Given the description of an element on the screen output the (x, y) to click on. 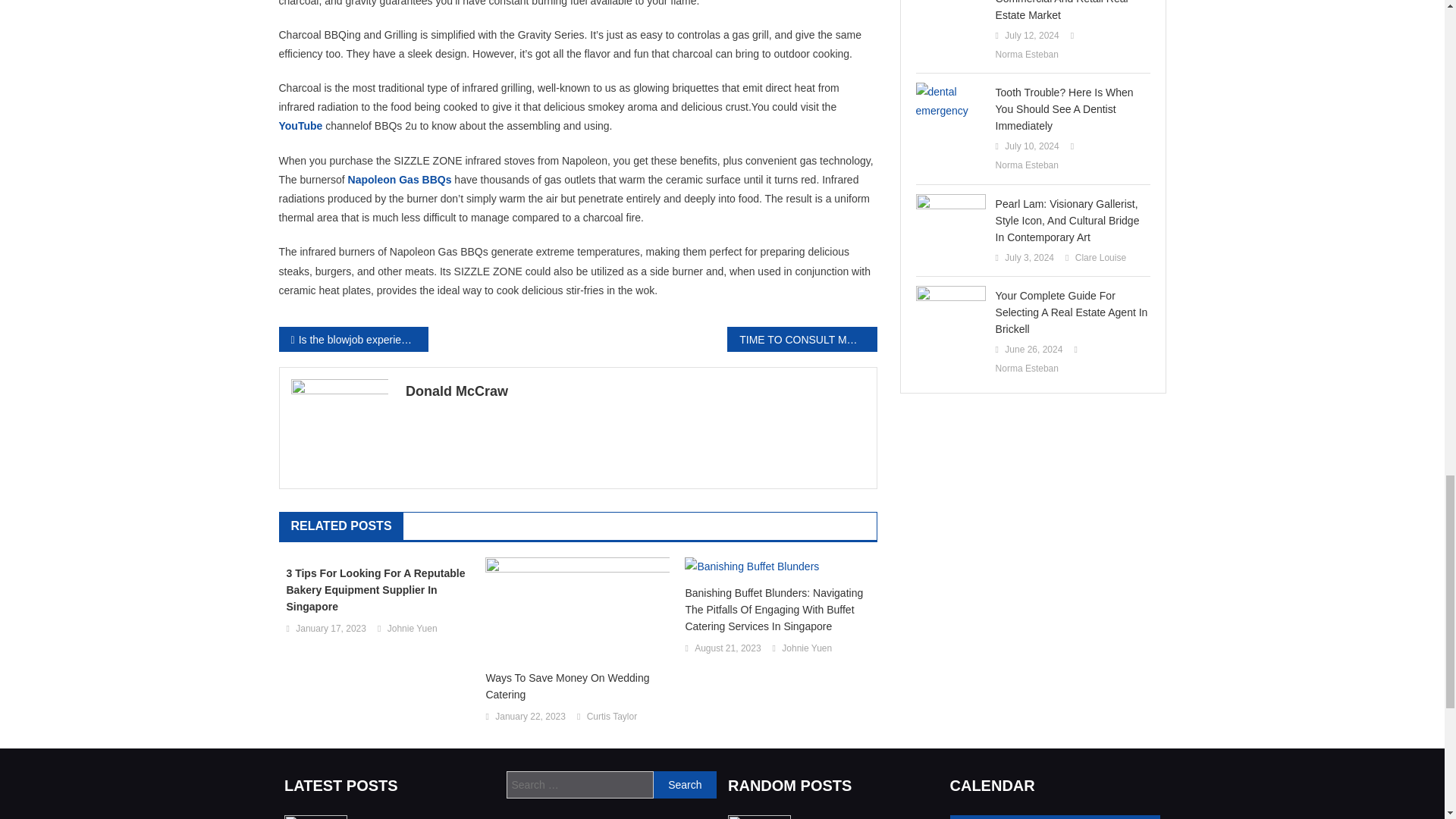
TIME TO CONSULT MOTORCYCLE ACCIDENT LAWYER (801, 339)
Search (684, 784)
YouTube (301, 125)
Donald McCraw (635, 391)
Search (684, 784)
Napoleon Gas BBQs (399, 179)
